Given the description of an element on the screen output the (x, y) to click on. 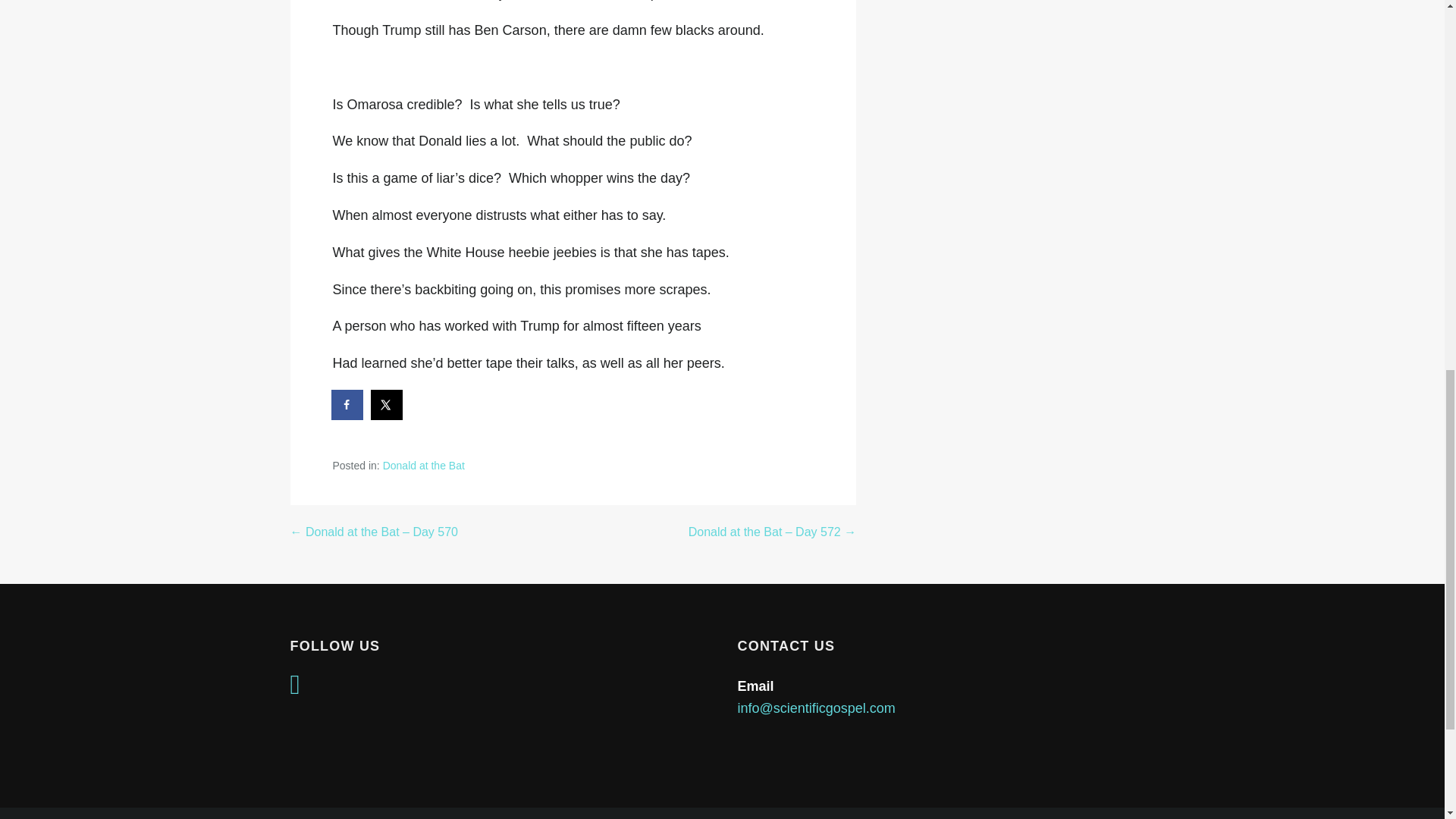
Share on Facebook (346, 404)
Visit scientificgospel.com on Facebook (294, 688)
Donald at the Bat (423, 465)
Share on X (387, 404)
